Given the description of an element on the screen output the (x, y) to click on. 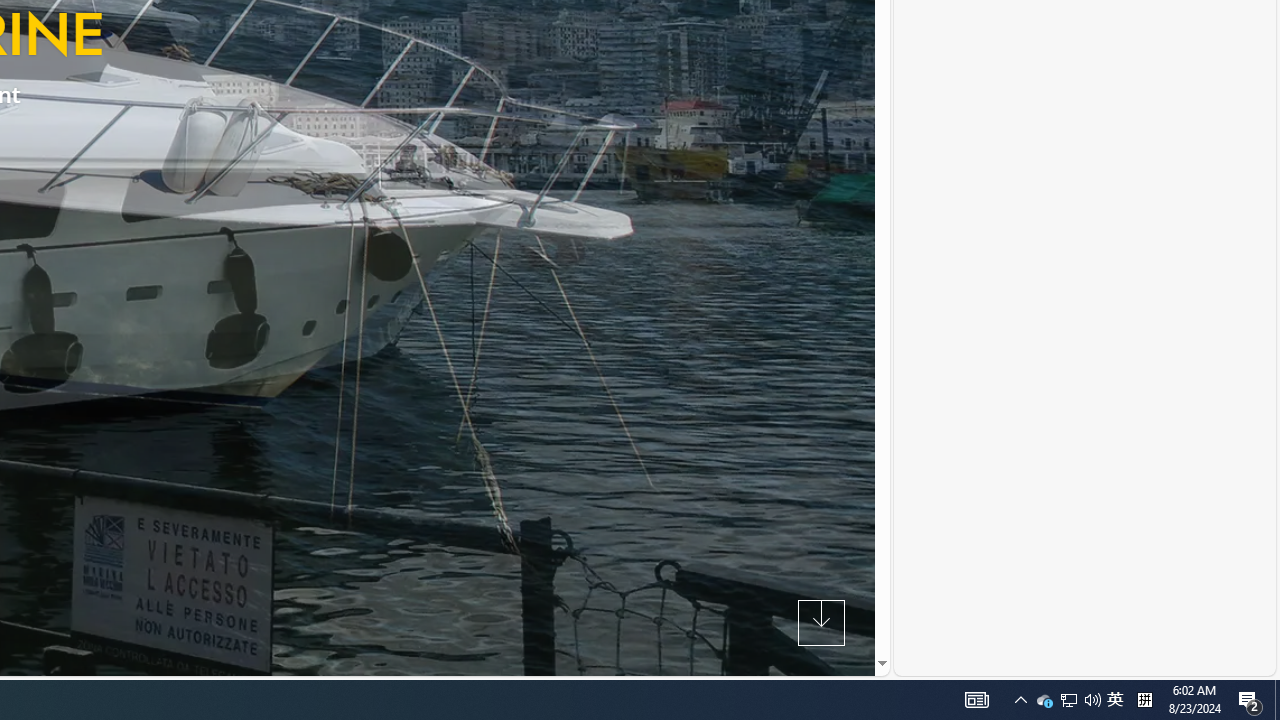
Next Section (820, 622)
